Given the description of an element on the screen output the (x, y) to click on. 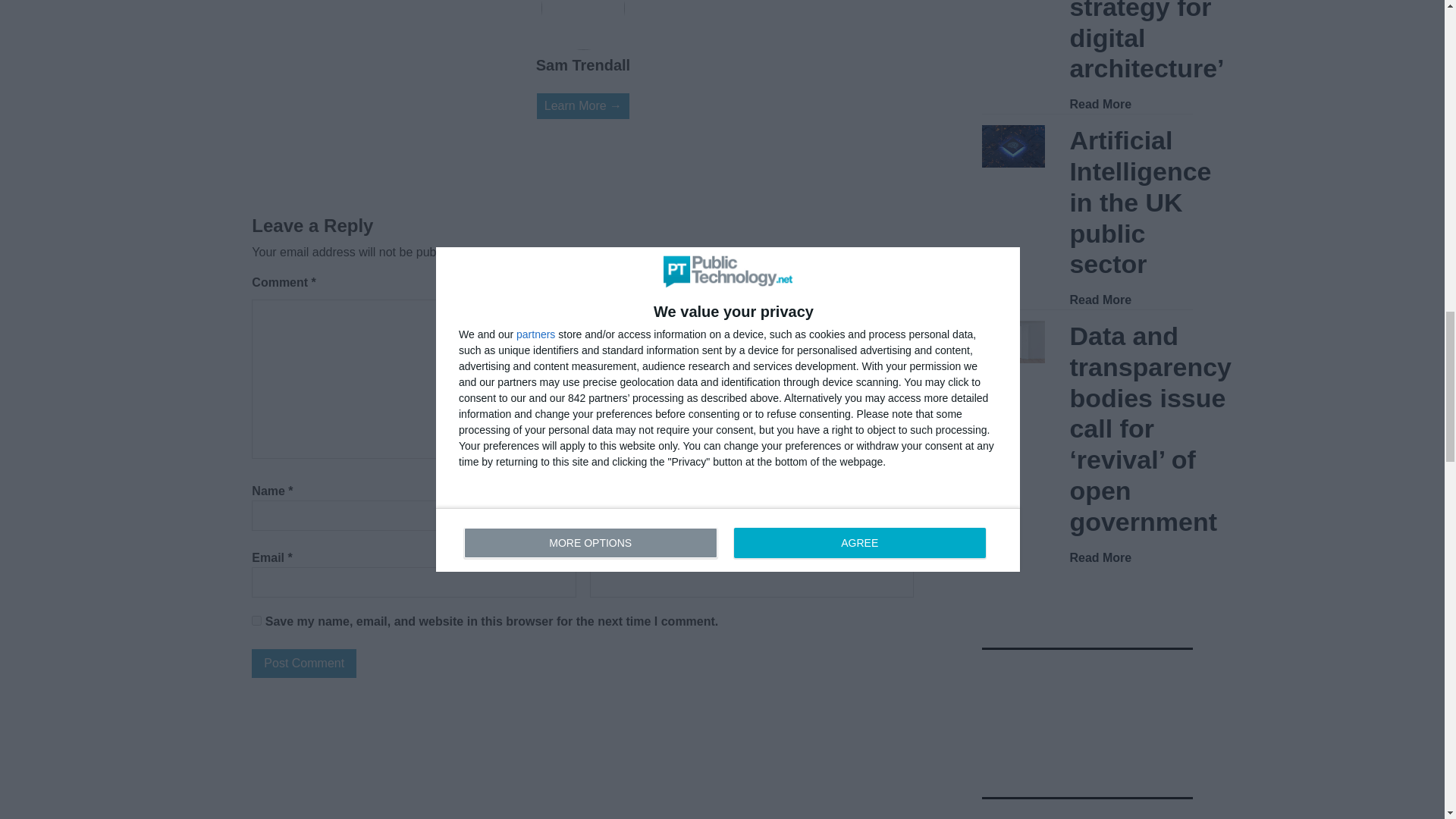
Post Comment (303, 663)
yes (256, 620)
